Given the description of an element on the screen output the (x, y) to click on. 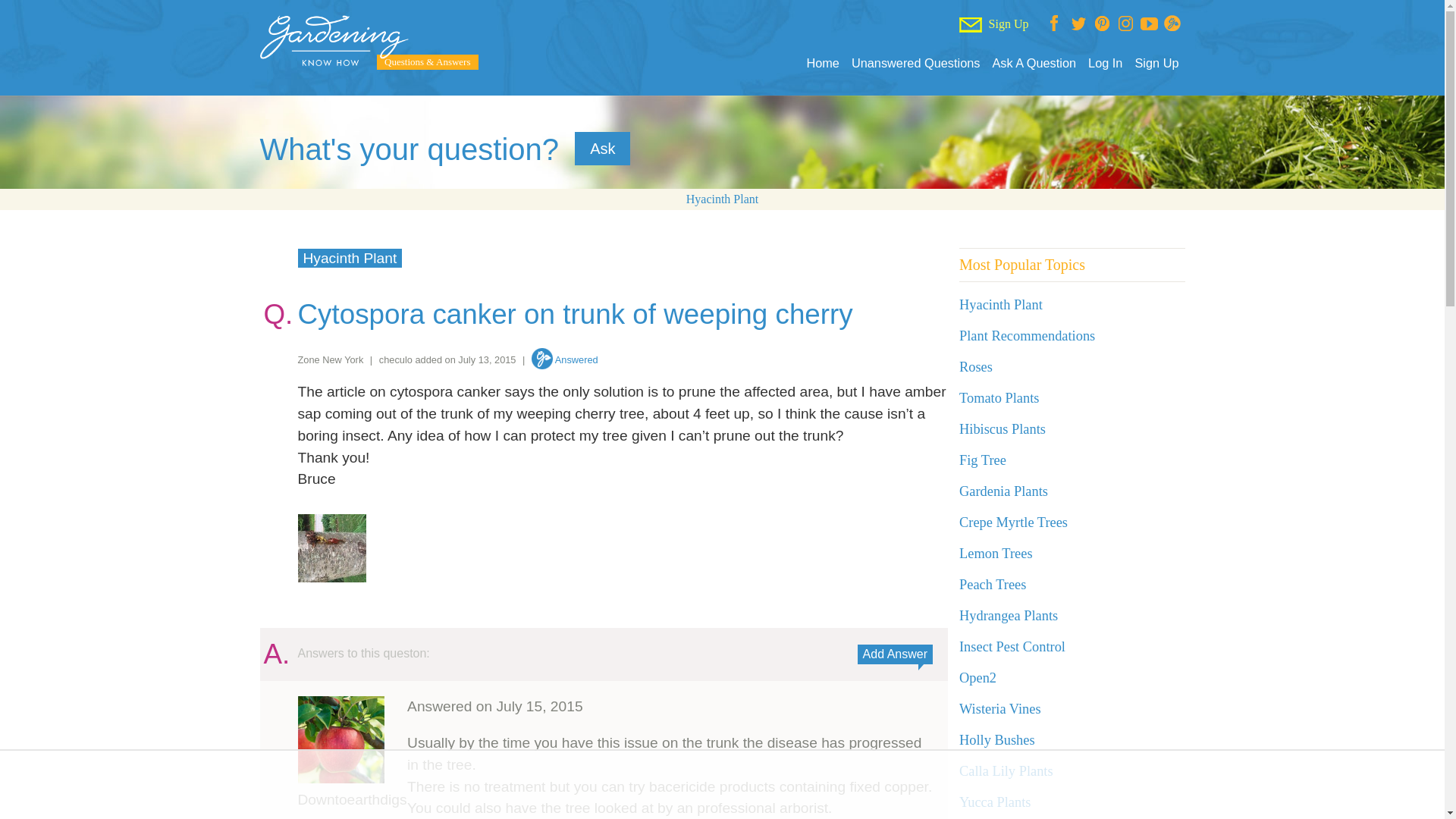
Lemon Trees (995, 553)
Hyacinth Plant (721, 198)
Add Answer (895, 654)
Open2 (977, 677)
Unanswered Questions (916, 62)
Gardenia Plants (1003, 491)
Hydrangea Plants (1008, 615)
Roses (975, 366)
Sign Up (1156, 62)
Tomato Plants (999, 397)
Plant Recommendations (1026, 335)
Roses (975, 366)
Hyacinth Plant (1000, 304)
Hibiscus Plants (1002, 428)
Hyacinth Plant (349, 257)
